Given the description of an element on the screen output the (x, y) to click on. 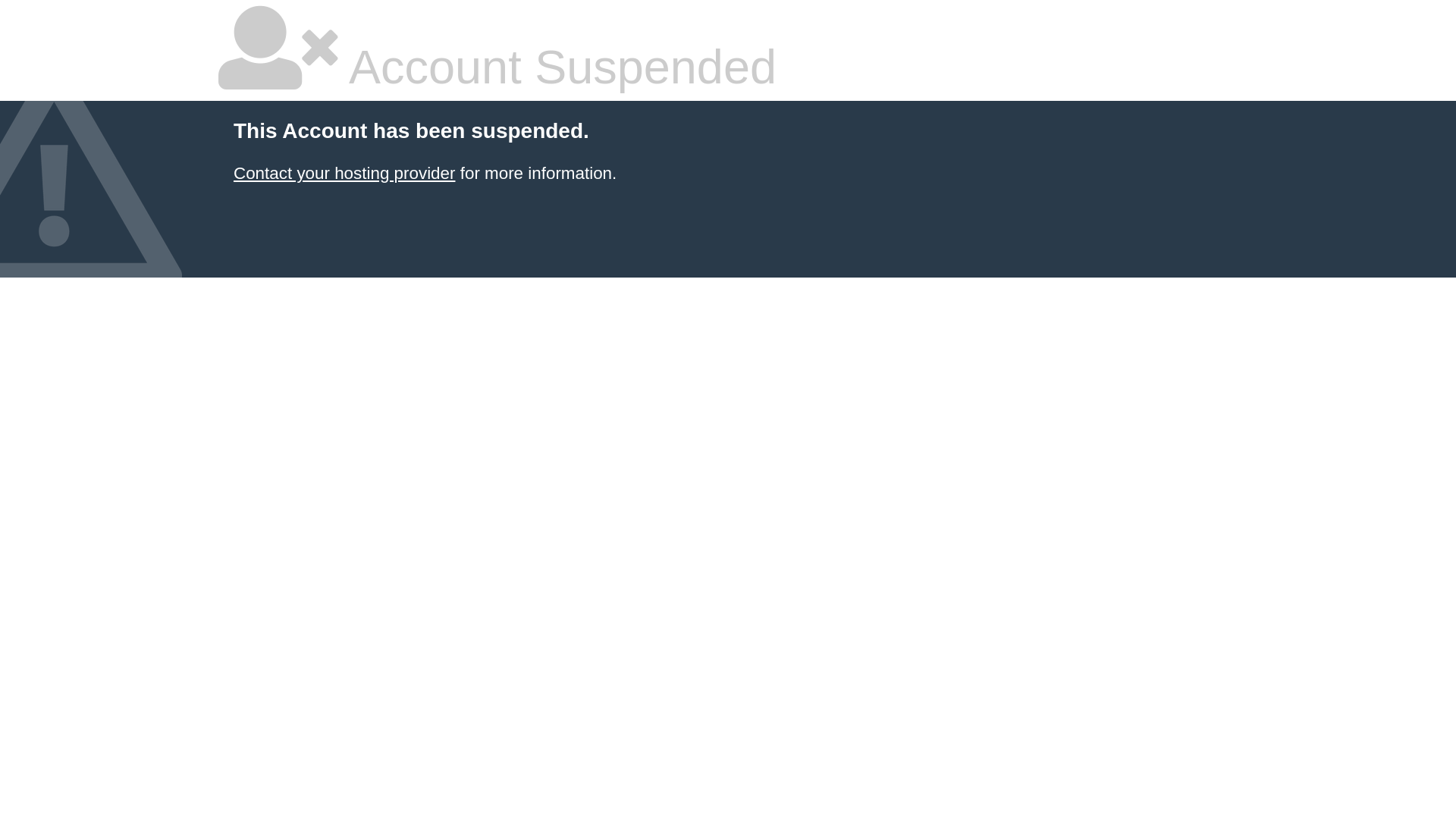
Contact your hosting provider Element type: text (344, 172)
